Given the description of an element on the screen output the (x, y) to click on. 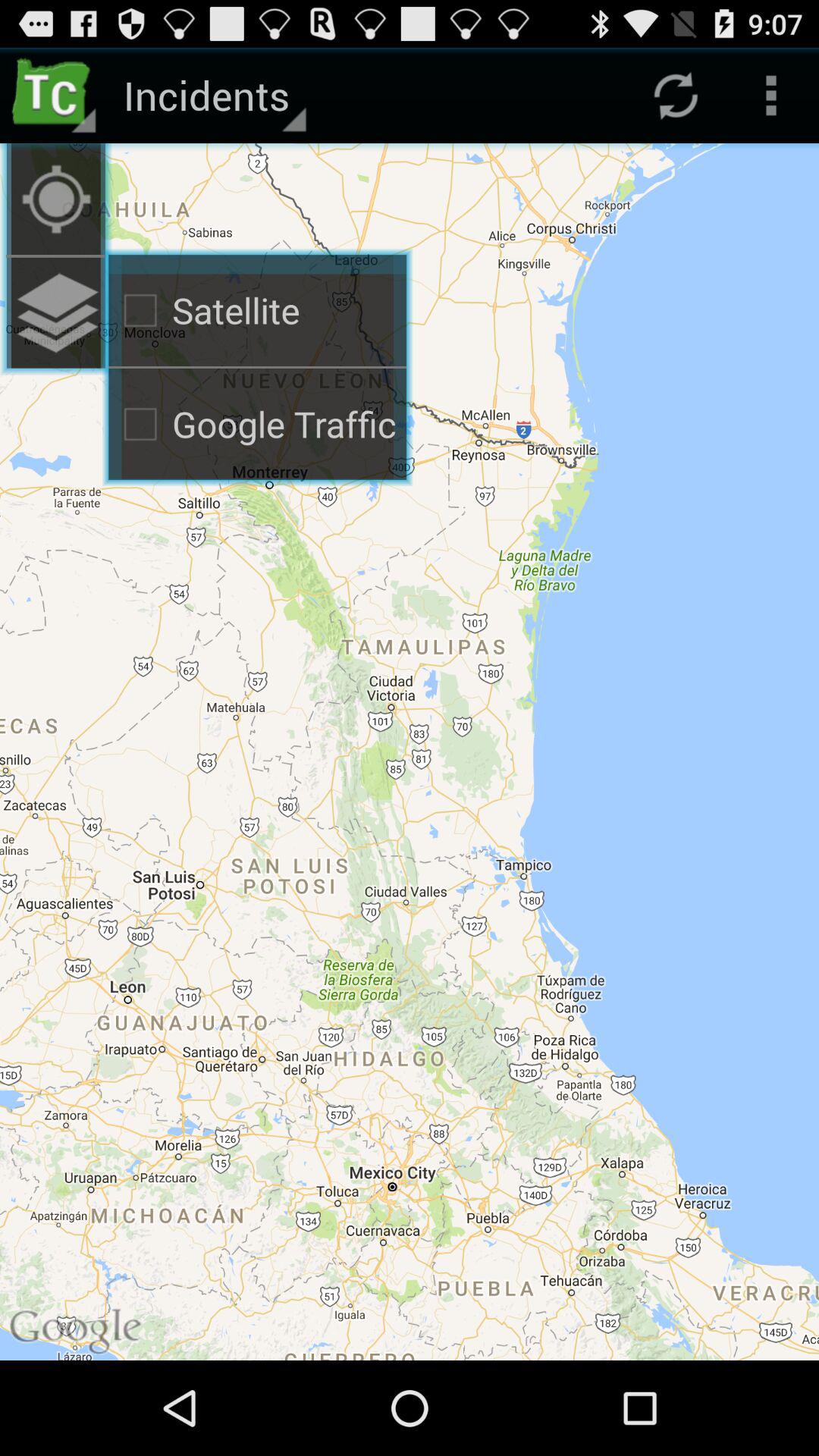
open icon to the left of the incidents (55, 95)
